Given the description of an element on the screen output the (x, y) to click on. 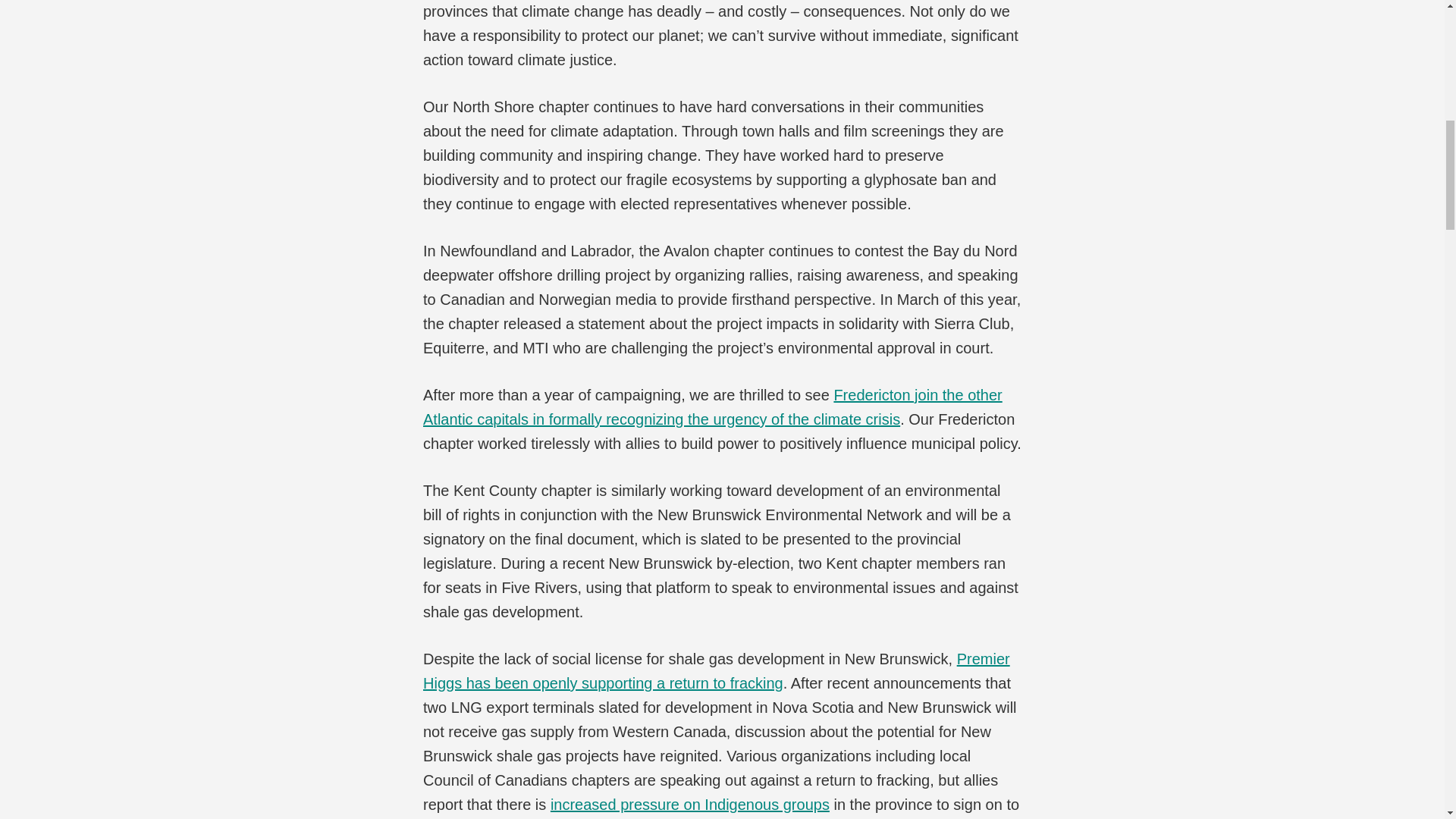
increased pressure on Indigenous groups (689, 804)
